Given the description of an element on the screen output the (x, y) to click on. 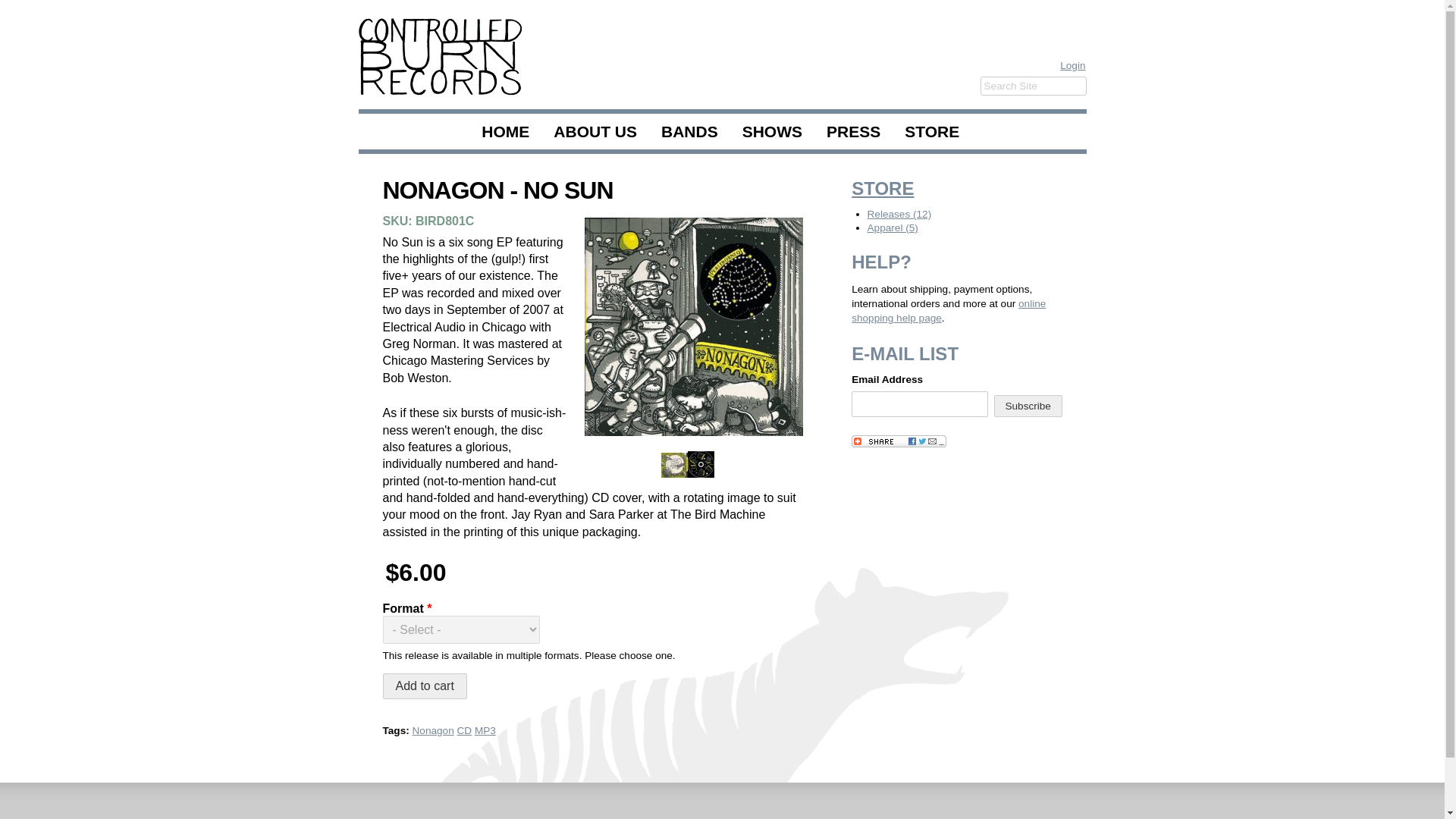
Login (1071, 65)
MP3 (485, 730)
HOME (504, 131)
online shopping help page (948, 310)
SHOWS (771, 131)
Nonagon (433, 730)
STORE (882, 188)
Subscribe (1028, 405)
Search (20, 9)
PRESS (852, 131)
ABOUT US (595, 131)
BANDS (689, 131)
Search Site (1032, 85)
Add to cart (423, 686)
